Given the description of an element on the screen output the (x, y) to click on. 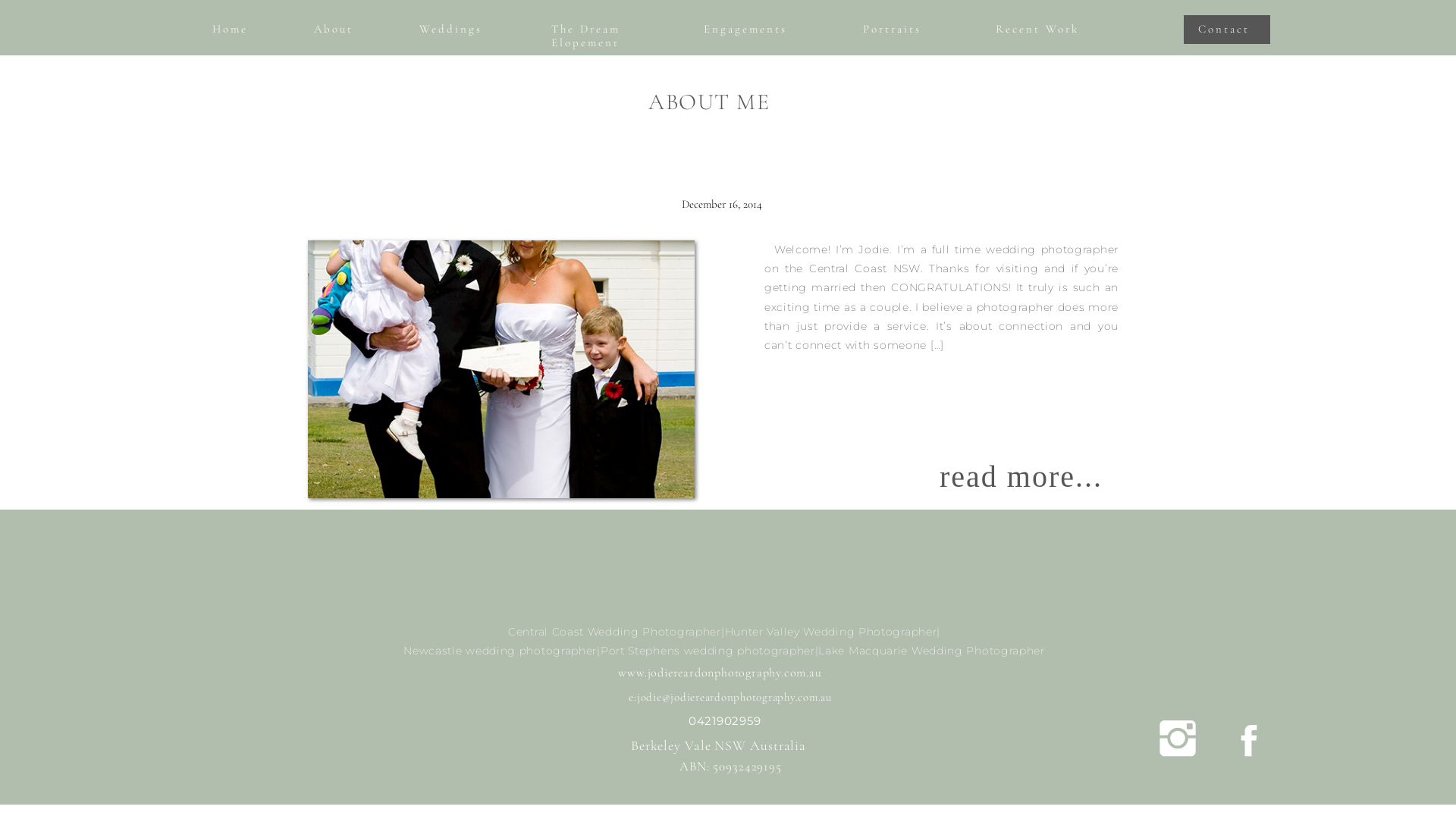
e:jodie@jodiereardonphotography.com.au Element type: text (729, 696)
The Dream Elopement Element type: text (595, 30)
Weddings Element type: text (453, 30)
read more... Element type: text (1034, 478)
Home Element type: text (231, 30)
Engagements Element type: text (751, 30)
About Me Element type: hover (500, 369)
Portraits Element type: text (897, 30)
About Element type: text (334, 30)
Recent Work Element type: text (1065, 30)
www.jodiereardonphotography.com.au Element type: text (719, 671)
Contact Element type: text (1226, 30)
0421902959 Element type: text (724, 717)
